Given the description of an element on the screen output the (x, y) to click on. 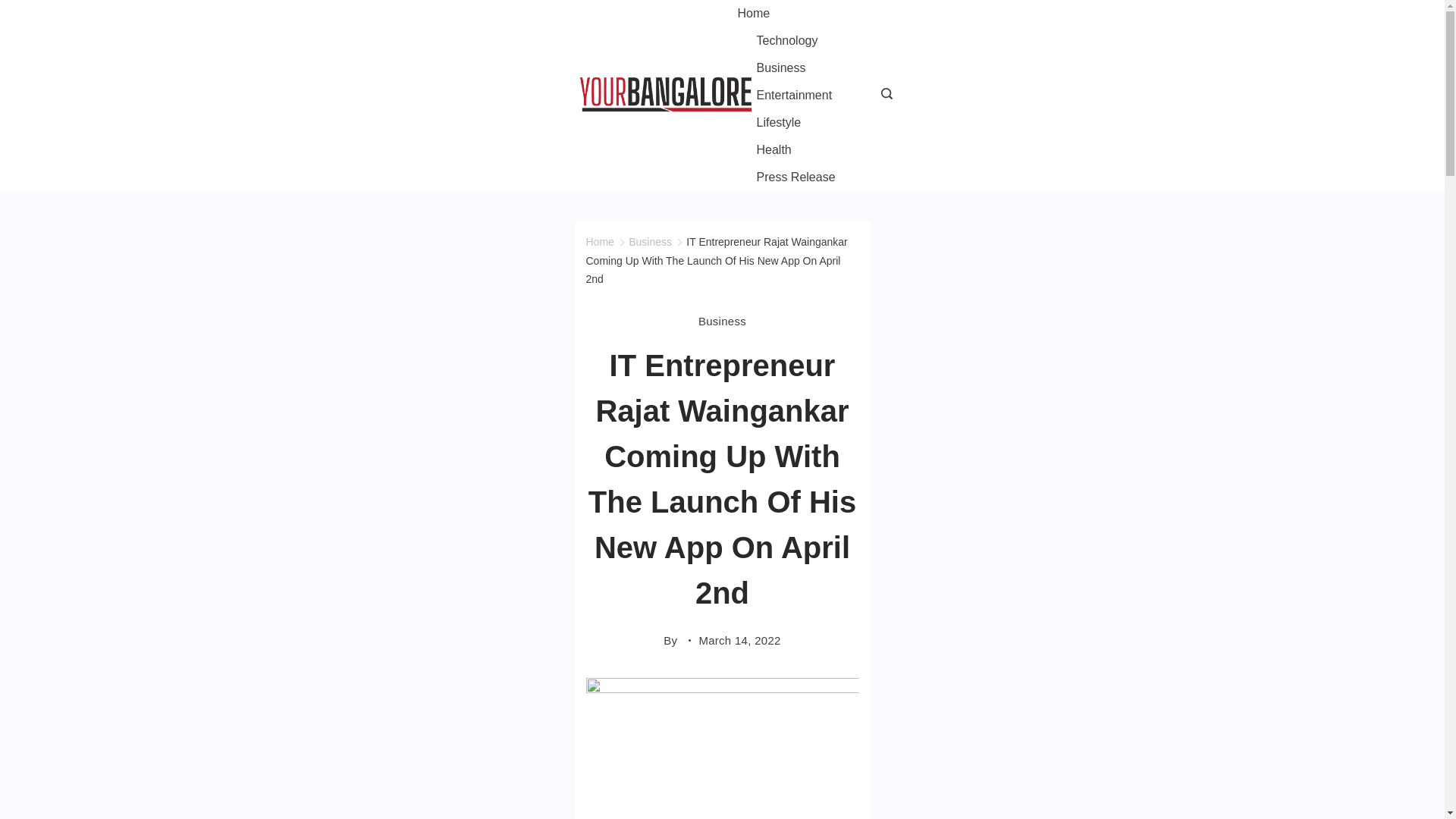
Press Release (785, 176)
Technology (785, 40)
Health (772, 149)
Home (598, 241)
Business (780, 67)
Business (649, 241)
Entertainment (793, 94)
Lifestyle (777, 122)
Business (721, 320)
